Given the description of an element on the screen output the (x, y) to click on. 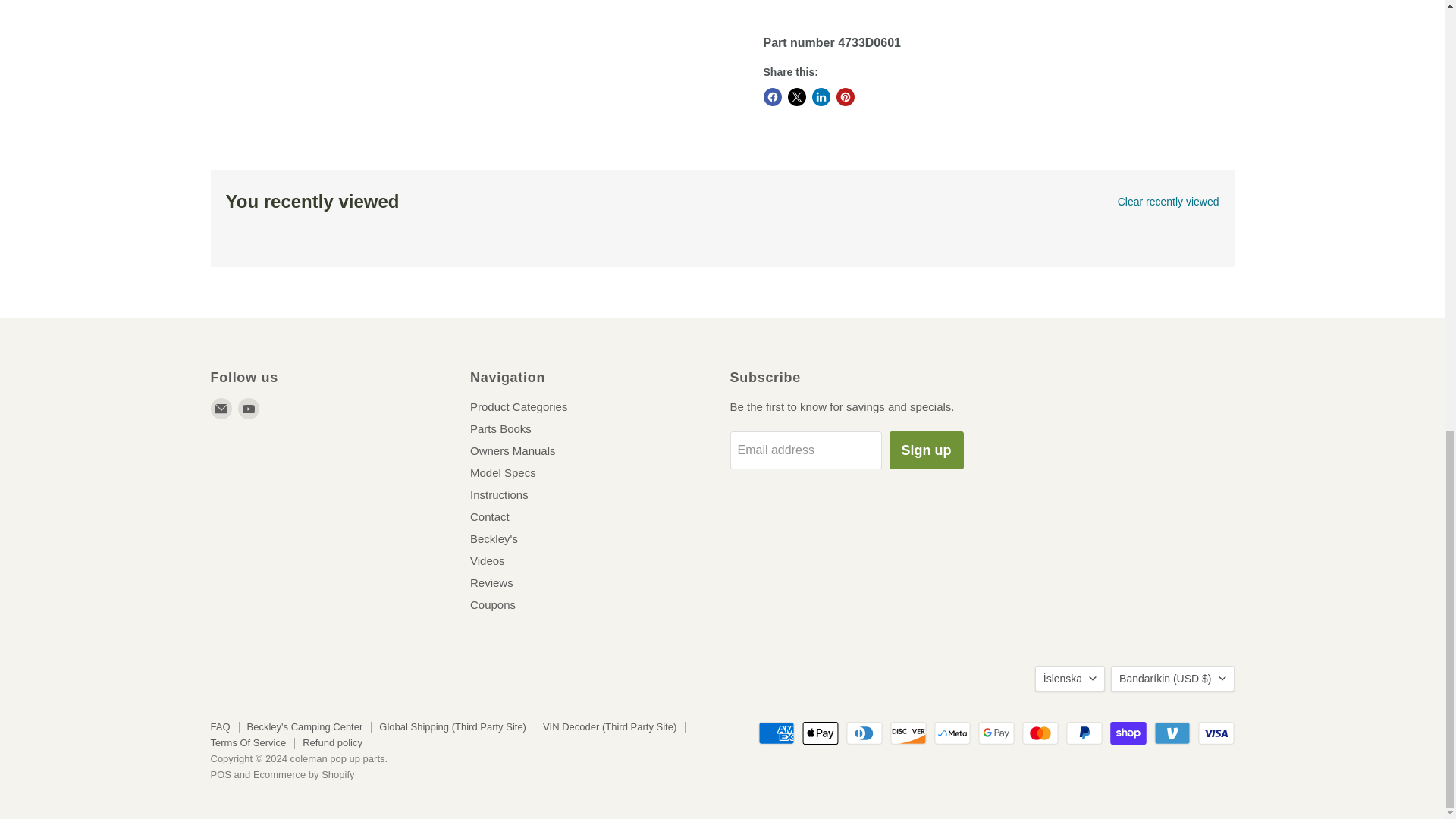
Diners Club (863, 732)
American Express (776, 732)
Apple Pay (820, 732)
Email (221, 408)
YouTube (248, 408)
